Given the description of an element on the screen output the (x, y) to click on. 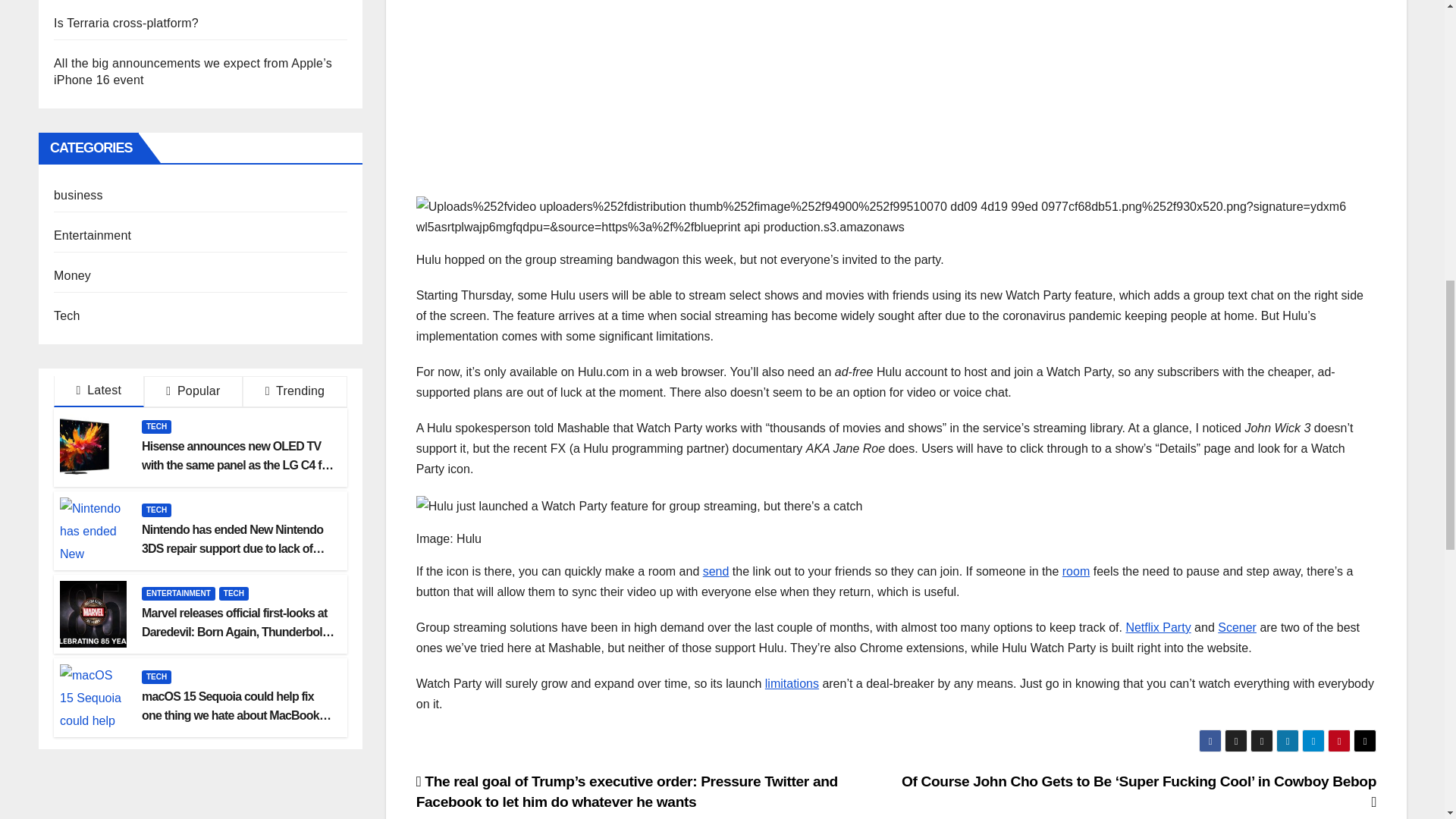
TECH (156, 427)
Latest (98, 391)
business (78, 195)
Is Terraria cross-platform? (125, 22)
Money (71, 275)
Entertainment (92, 235)
Trending (295, 391)
Popular (193, 391)
TECH (156, 509)
